Given the description of an element on the screen output the (x, y) to click on. 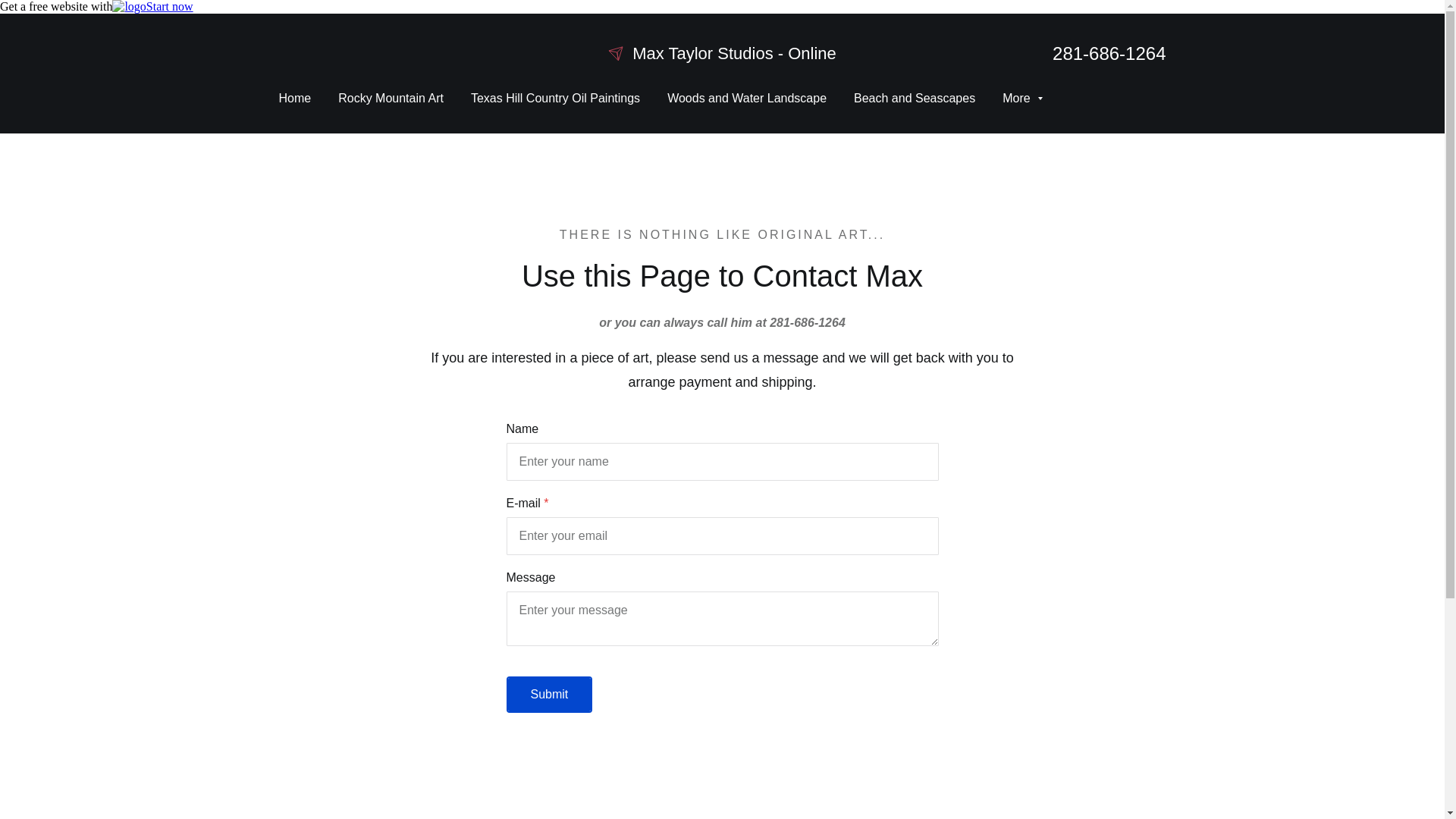
Rocky Mountain Art (390, 97)
Home (295, 97)
Beach and Seascapes (914, 97)
Max Taylor Studios - Online (721, 53)
Woods and Water Landscape (746, 97)
Texas Hill Country Oil Paintings (555, 97)
More (1022, 97)
